Given the description of an element on the screen output the (x, y) to click on. 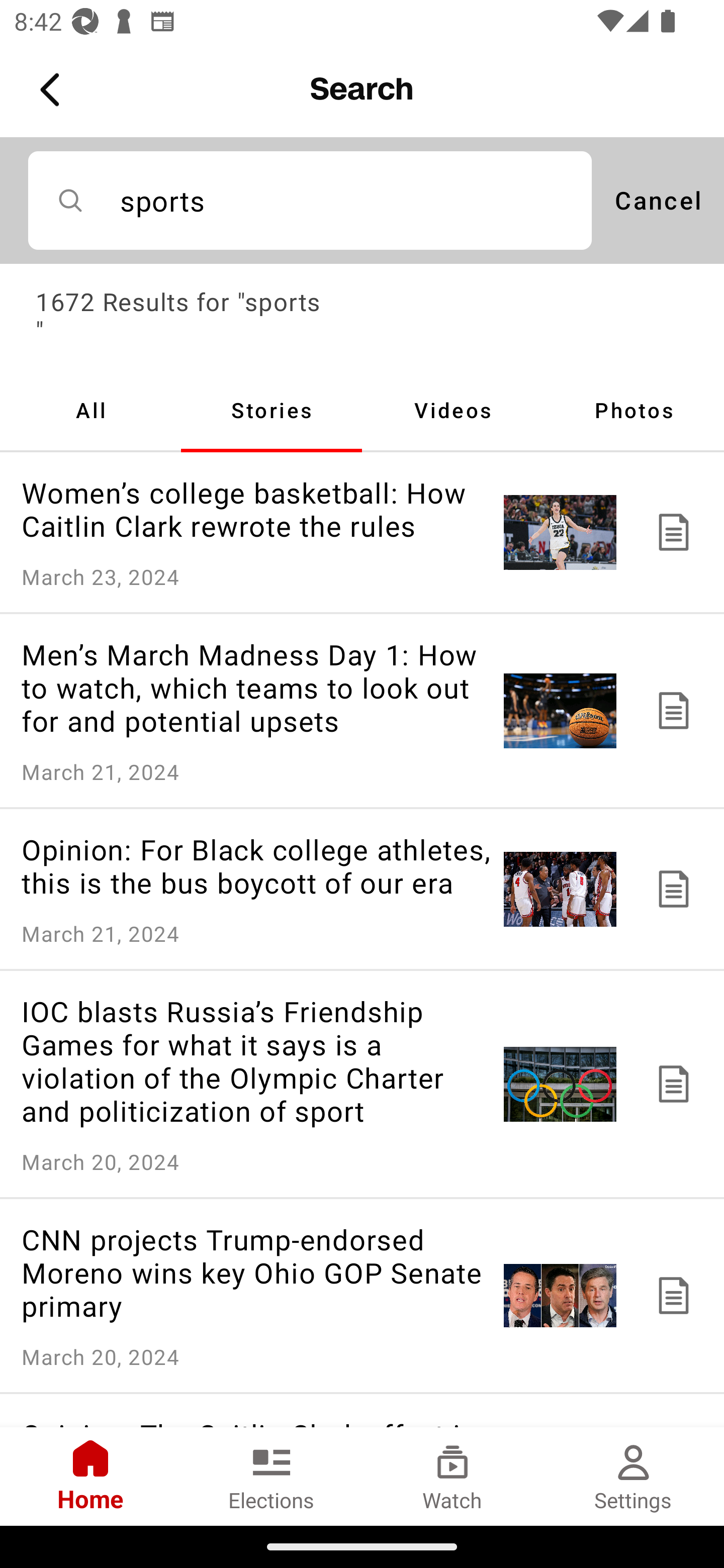
Back Button (52, 89)
Cancel (657, 199)
sports
 (309, 199)
All (90, 409)
Videos (452, 409)
Photos (633, 409)
Elections (271, 1475)
Watch (452, 1475)
Settings (633, 1475)
